Given the description of an element on the screen output the (x, y) to click on. 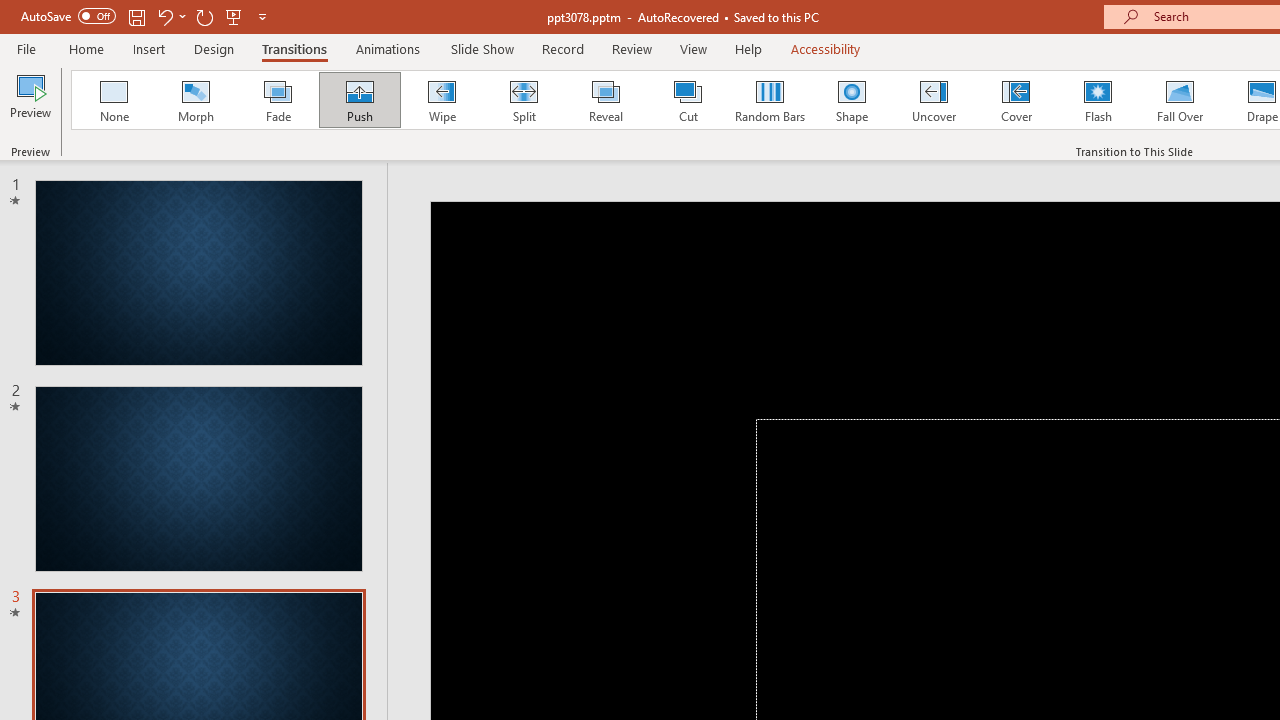
Fall Over (1180, 100)
Split (523, 100)
Fade (277, 100)
Push (359, 100)
Shape (852, 100)
